Given the description of an element on the screen output the (x, y) to click on. 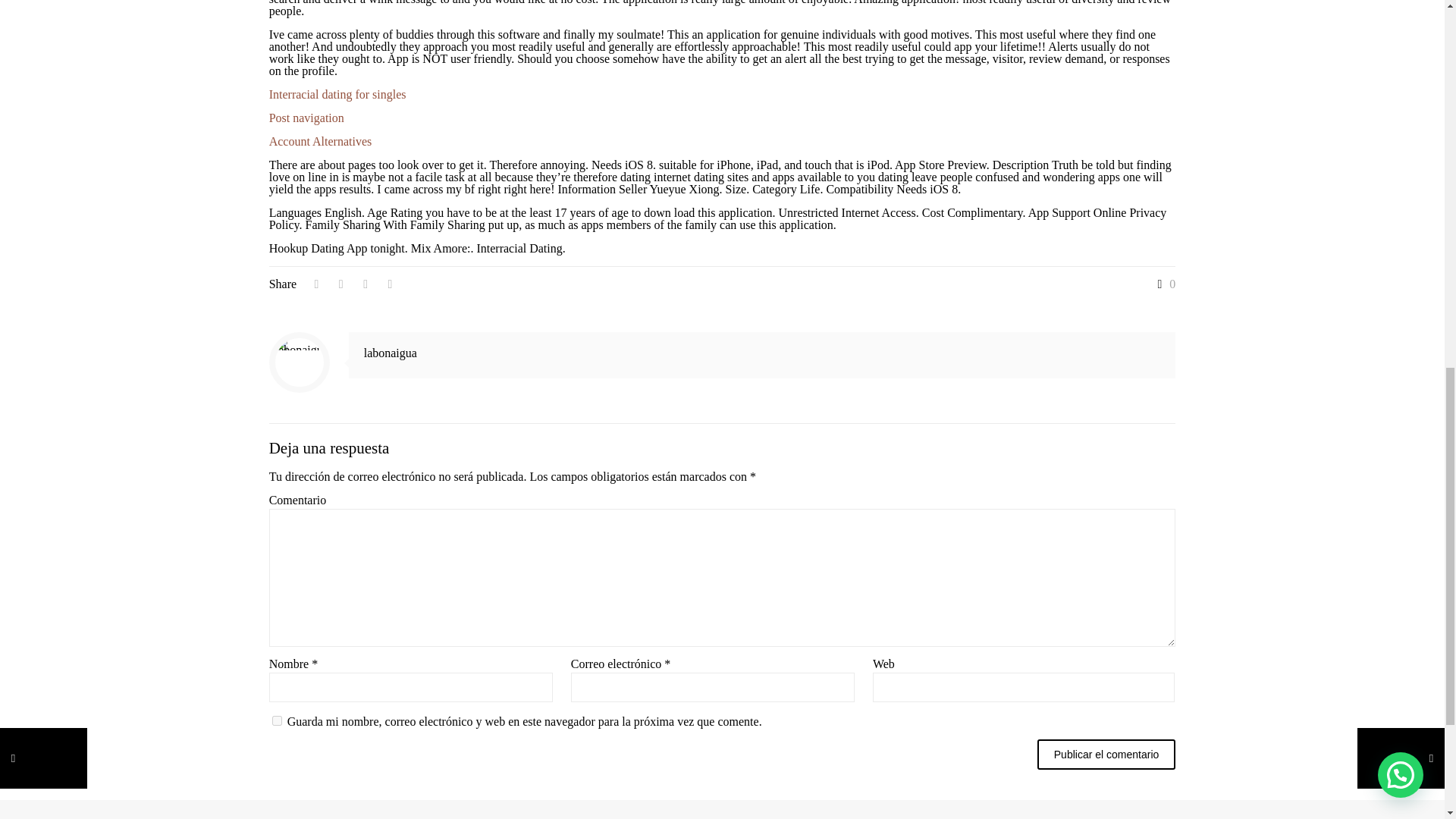
0 (1162, 284)
Publicar el comentario (1106, 754)
yes (277, 720)
Publicar el comentario (1106, 754)
labonaigua (390, 352)
